Given the description of an element on the screen output the (x, y) to click on. 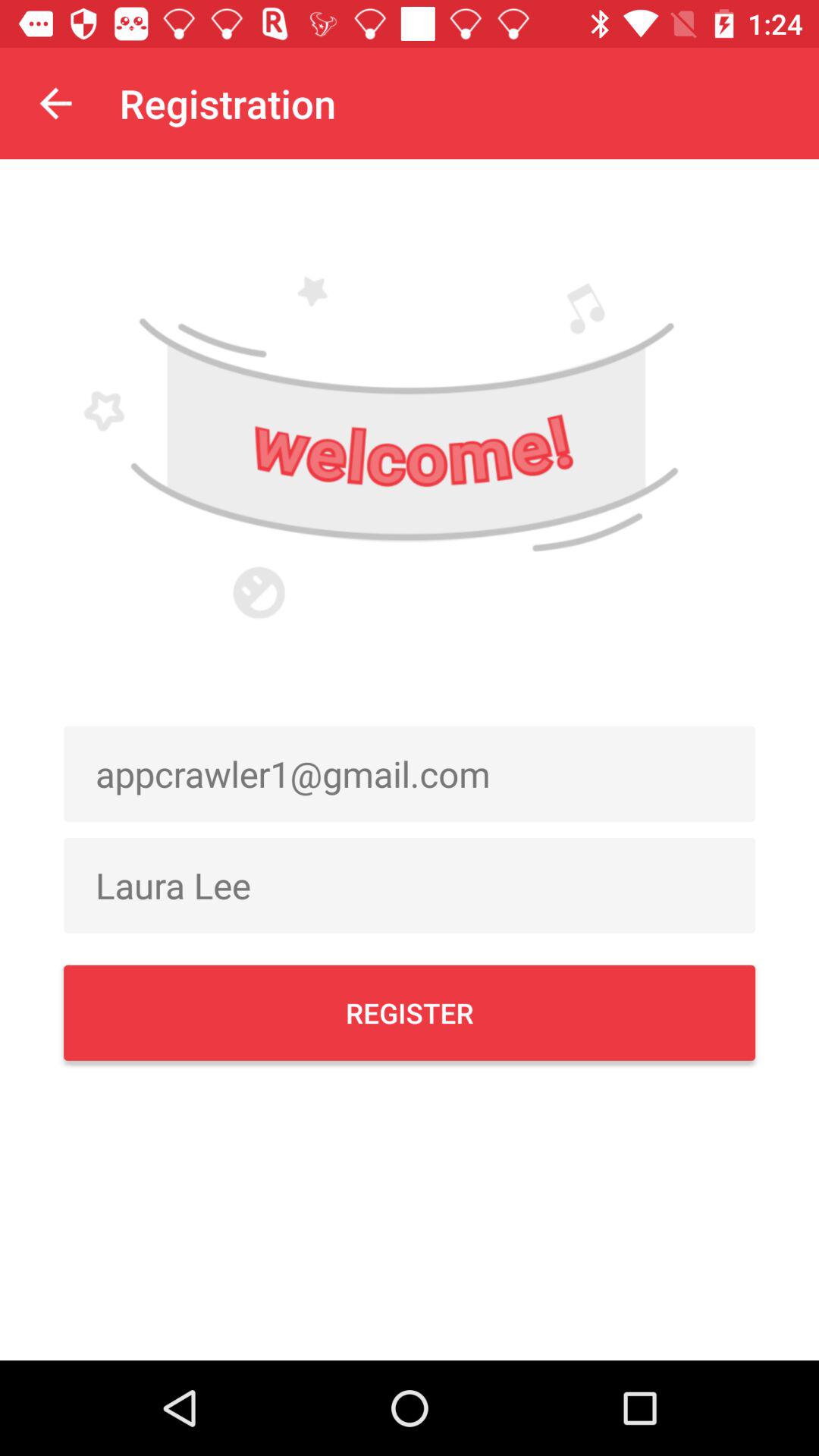
click item to the left of the registration item (55, 103)
